Given the description of an element on the screen output the (x, y) to click on. 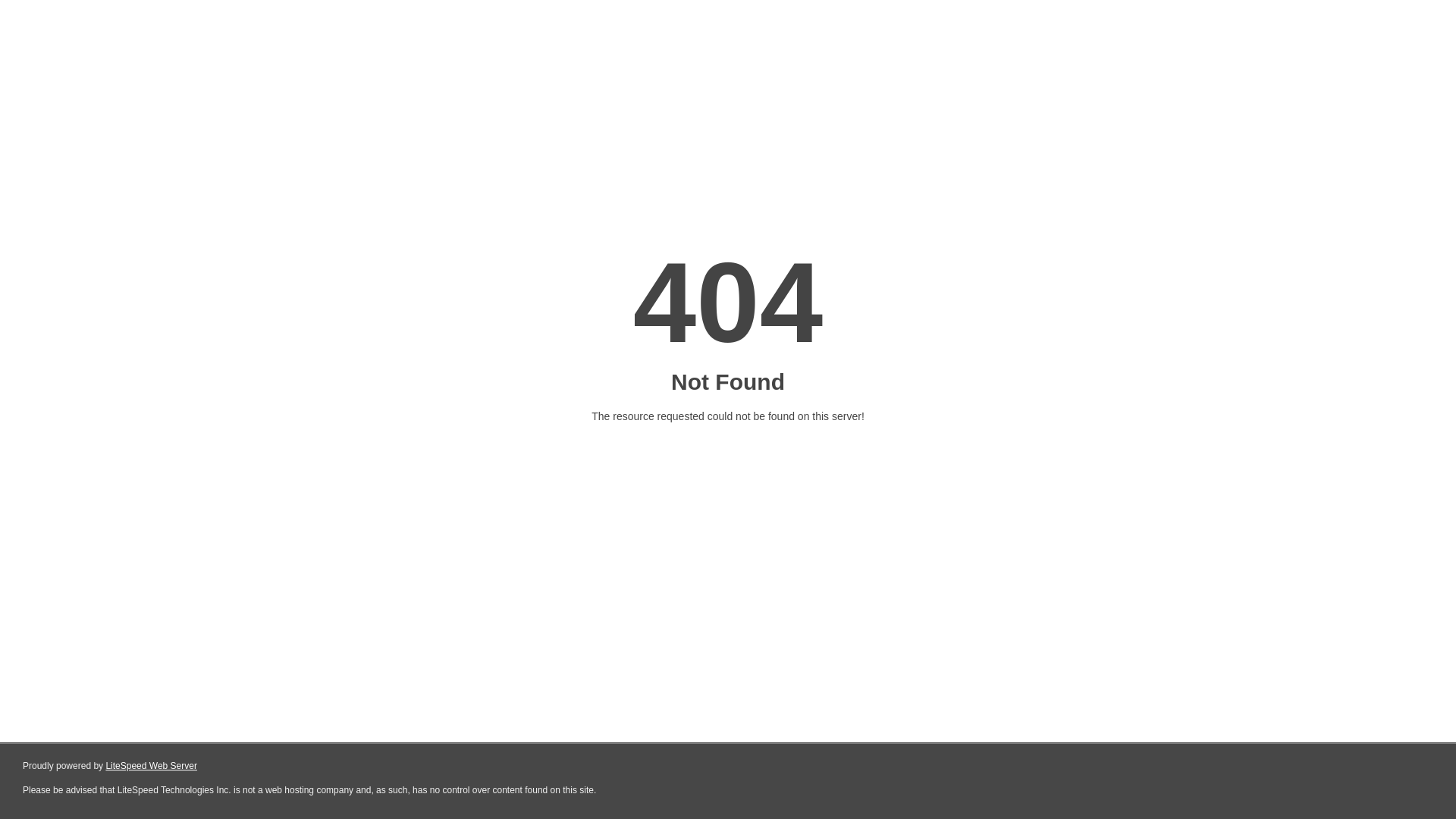
LiteSpeed Web Server Element type: text (151, 765)
